Given the description of an element on the screen output the (x, y) to click on. 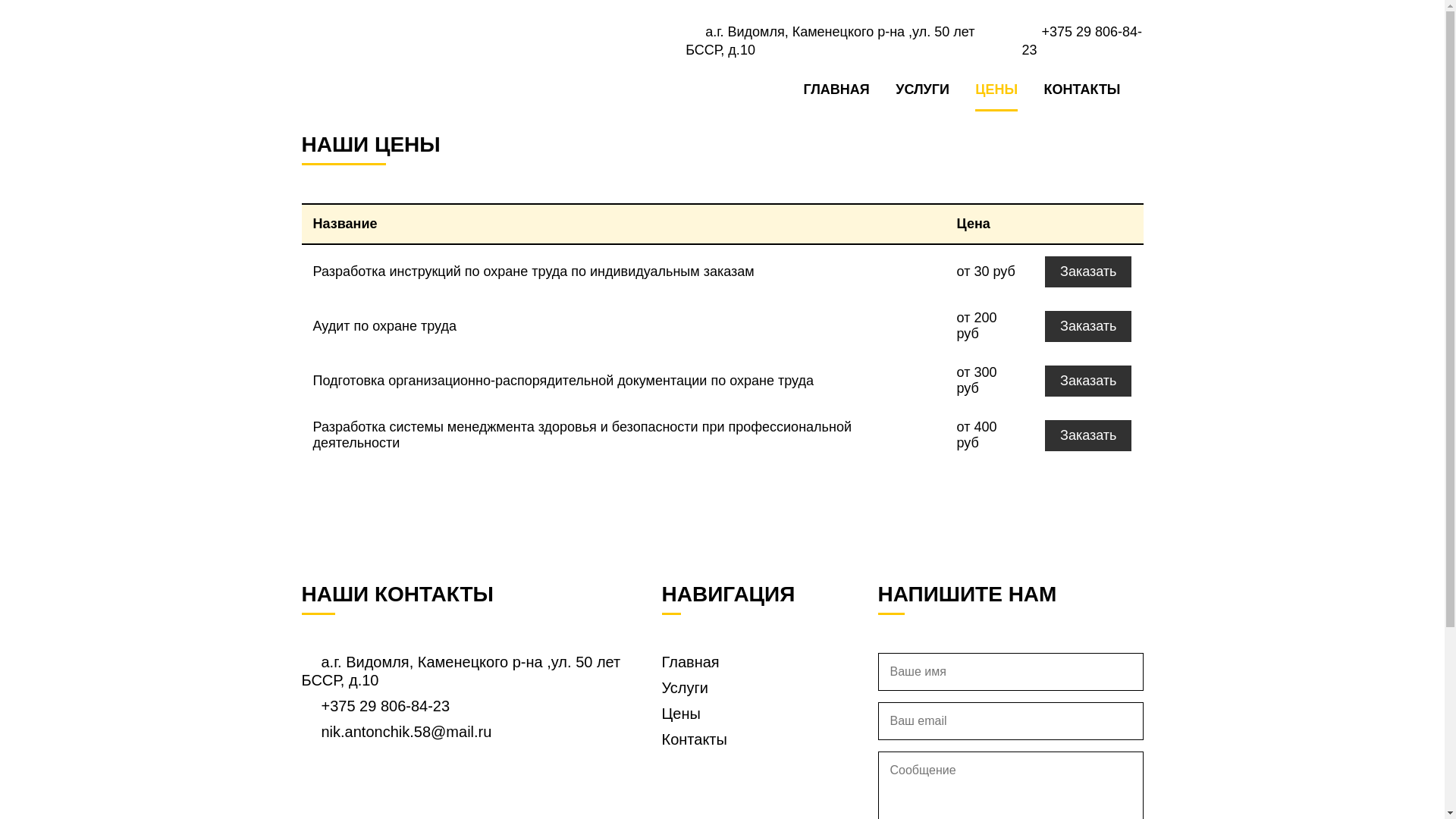
+375 29 806-84-23 Element type: text (1081, 40)
+375 29 806-84-23 Element type: text (375, 705)
nik.antonchik.58@mail.ru Element type: text (396, 731)
